Given the description of an element on the screen output the (x, y) to click on. 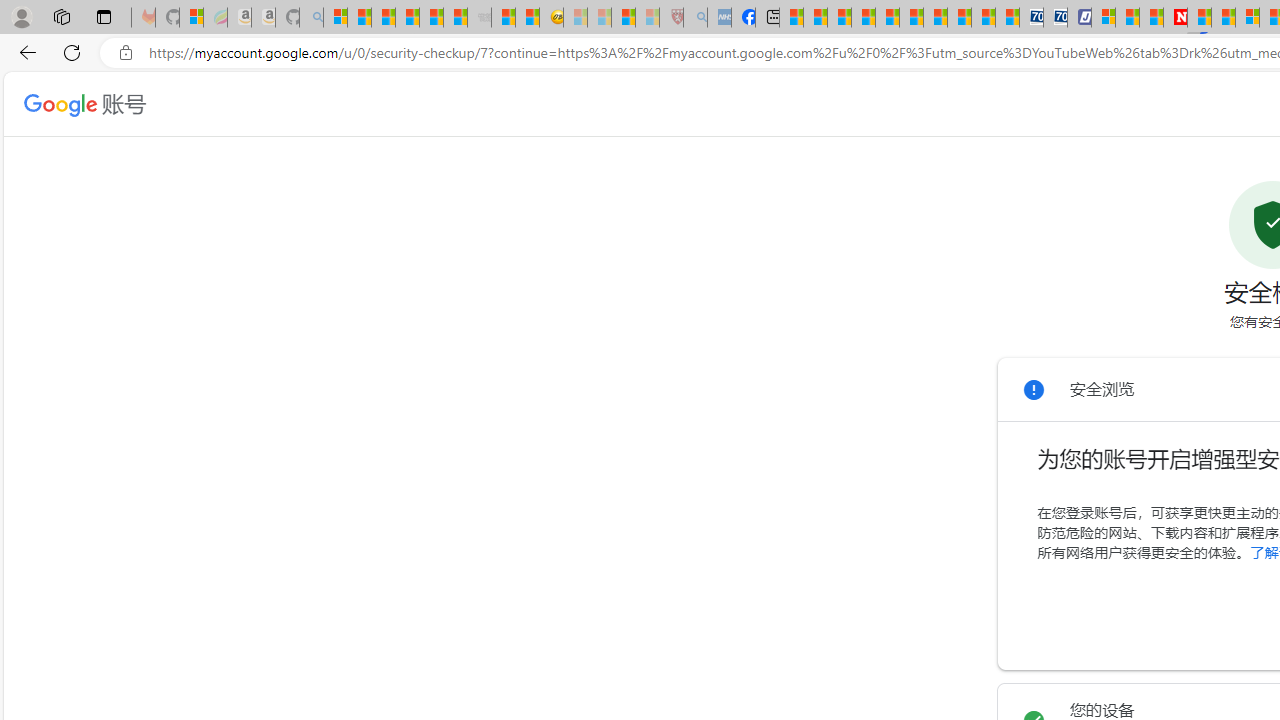
Recipes - MSN - Sleeping (575, 17)
Science - MSN (622, 17)
Newsweek - News, Analysis, Politics, Business, Technology (1174, 17)
Microsoft account | Privacy (1102, 17)
Climate Damage Becomes Too Severe To Reverse (863, 17)
World - MSN (839, 17)
